Given the description of an element on the screen output the (x, y) to click on. 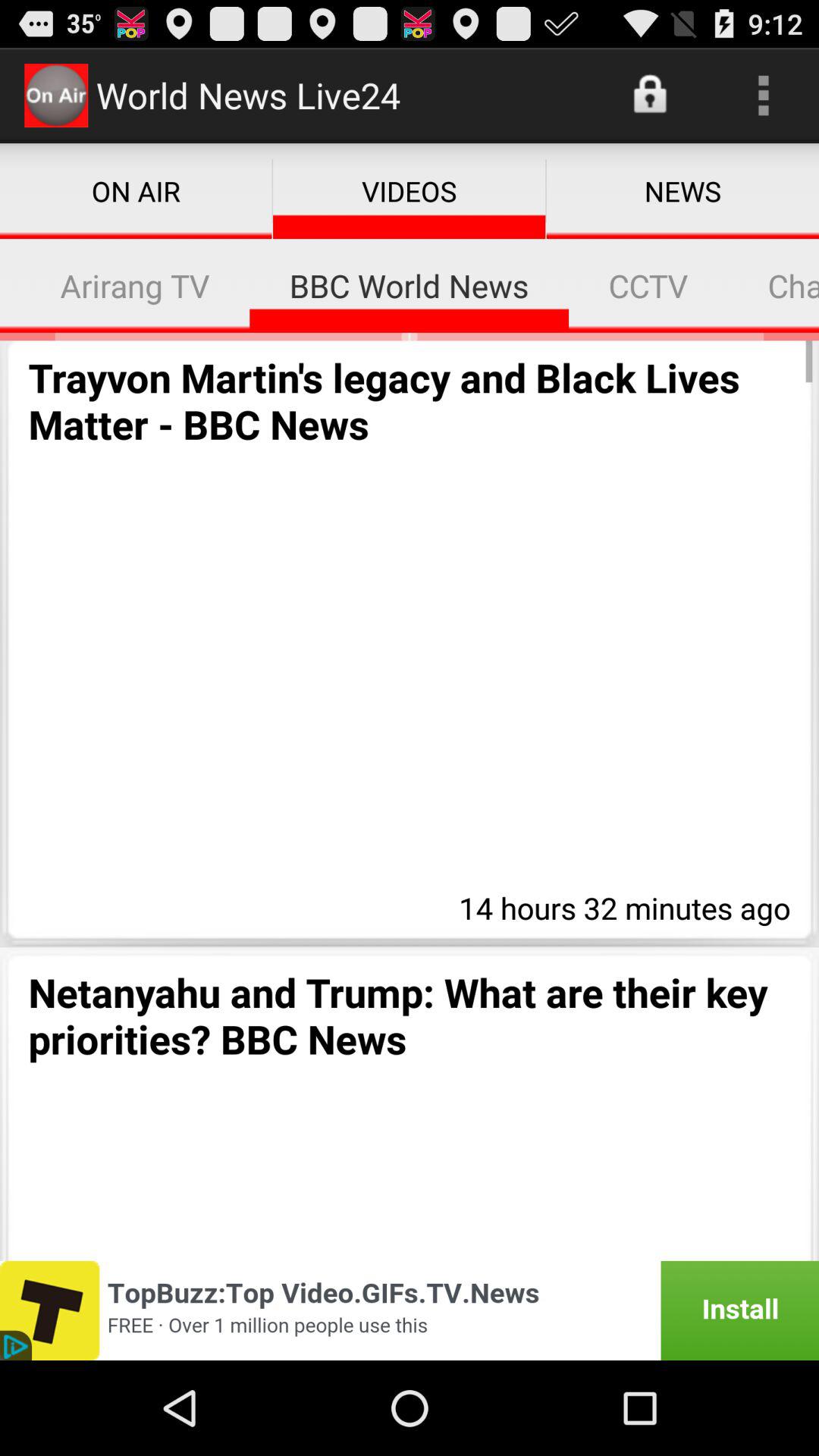
scroll until netanyahu and trump (409, 1012)
